Given the description of an element on the screen output the (x, y) to click on. 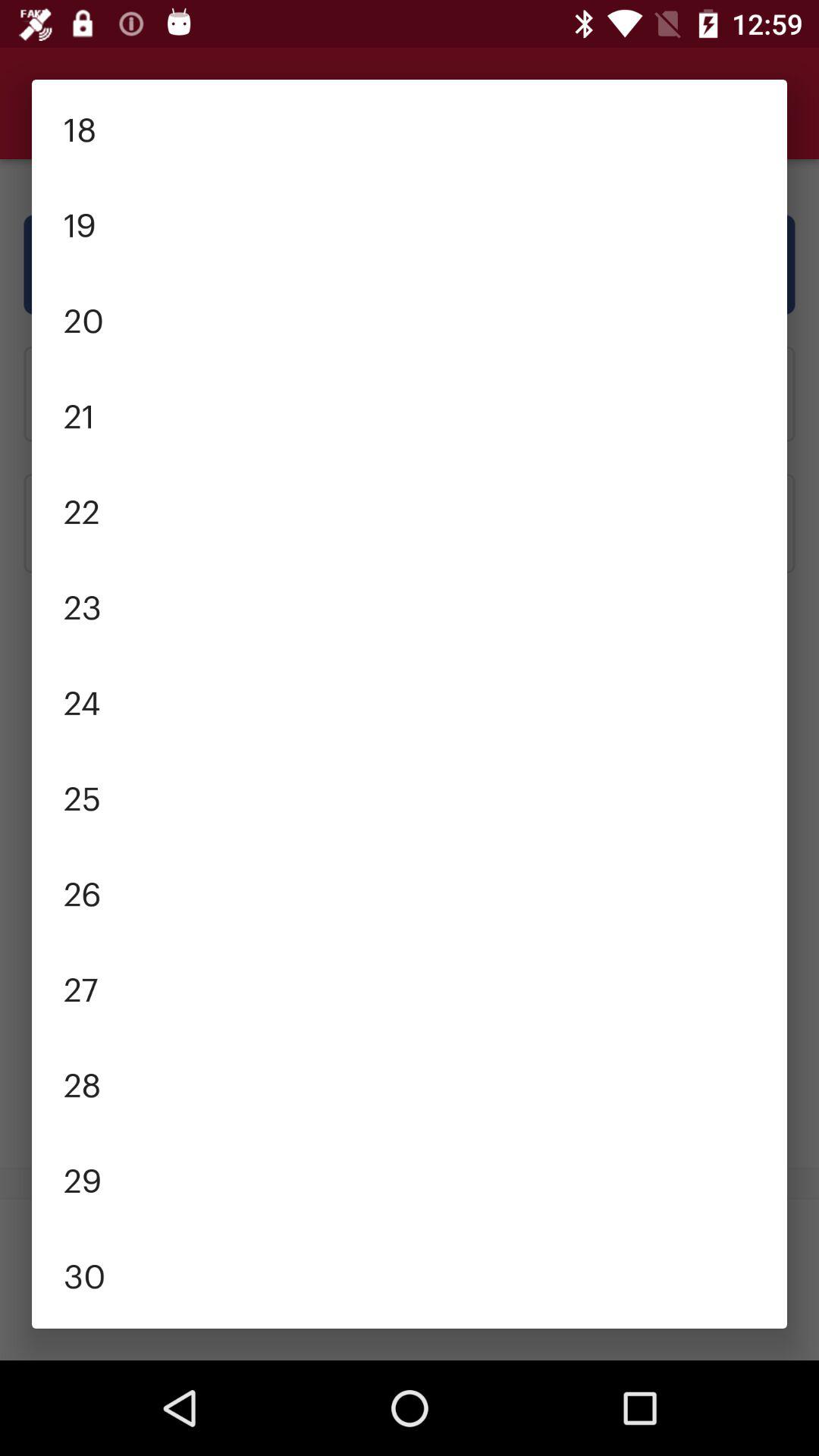
click item above the 31 icon (409, 1273)
